Given the description of an element on the screen output the (x, y) to click on. 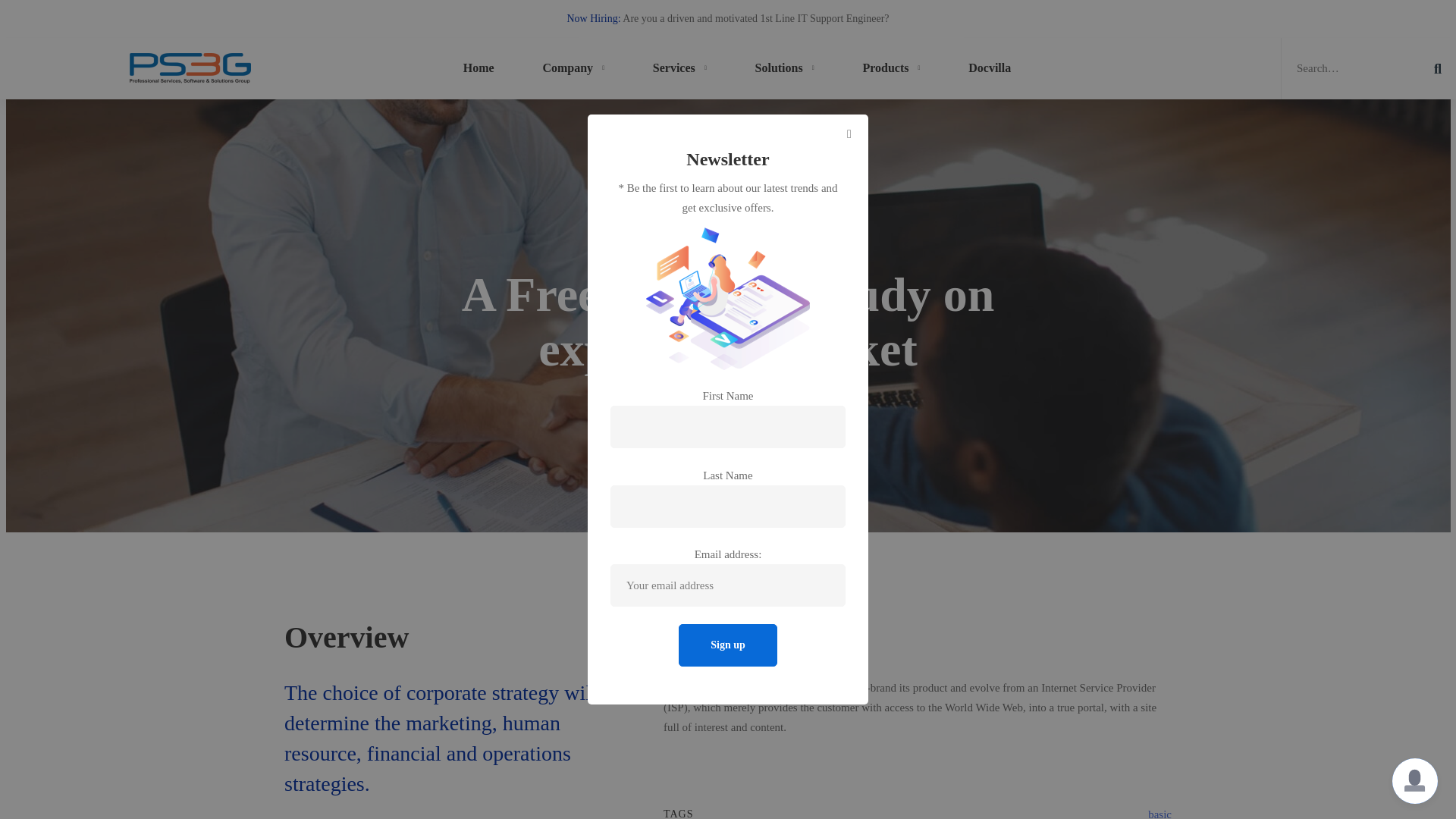
Docvilla (988, 68)
Now Hiring: (593, 18)
Company (573, 68)
basic (1160, 813)
Home (478, 68)
Services (679, 68)
Solutions (784, 68)
Products (891, 68)
Sign up (727, 645)
